Given the description of an element on the screen output the (x, y) to click on. 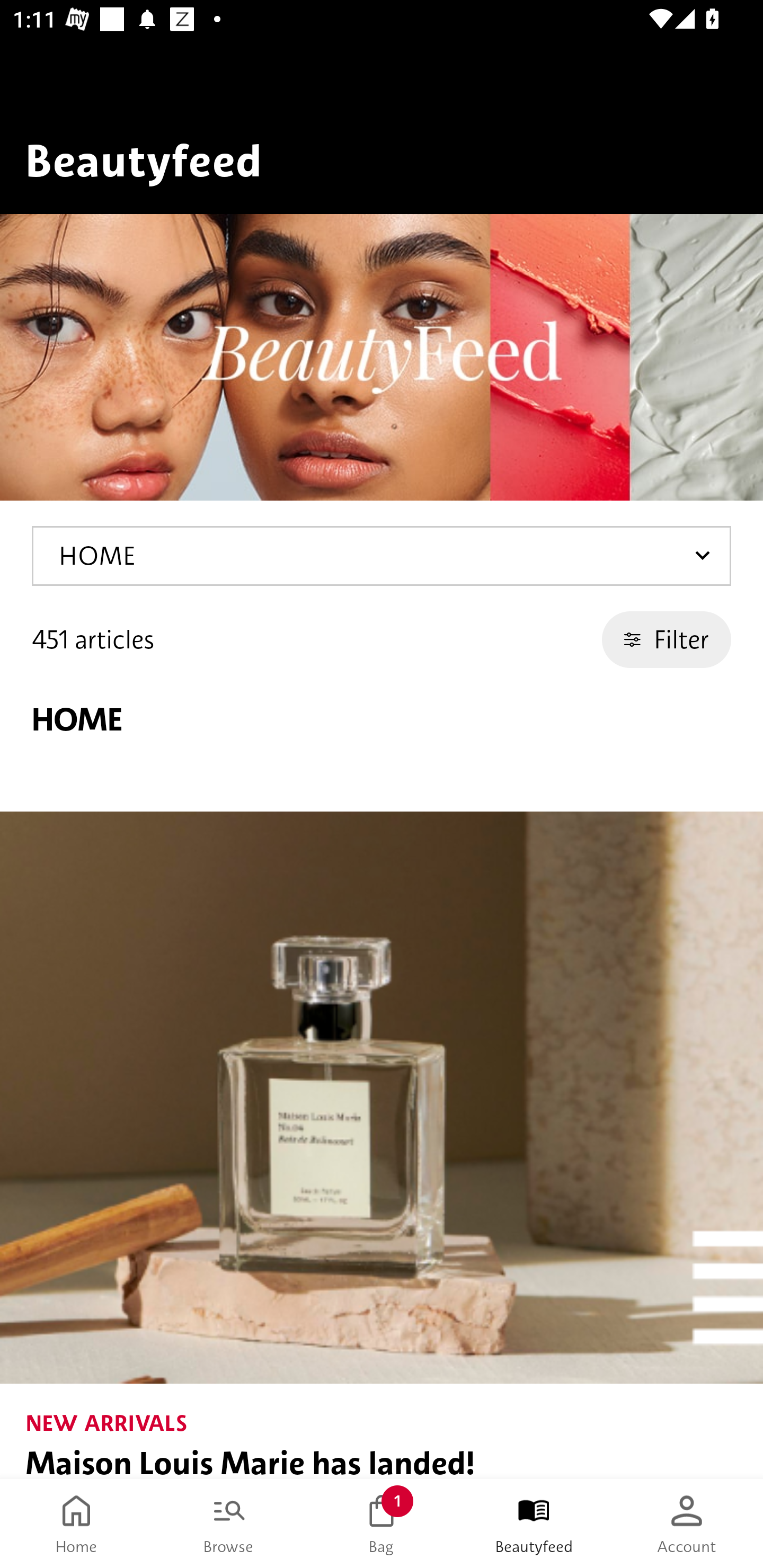
HOME (381, 555)
Filter (666, 639)
NEW ARRIVALS Maison Louis Marie has landed! (381, 1145)
Home (76, 1523)
Browse (228, 1523)
Bag 1 Bag (381, 1523)
Account (686, 1523)
